Given the description of an element on the screen output the (x, y) to click on. 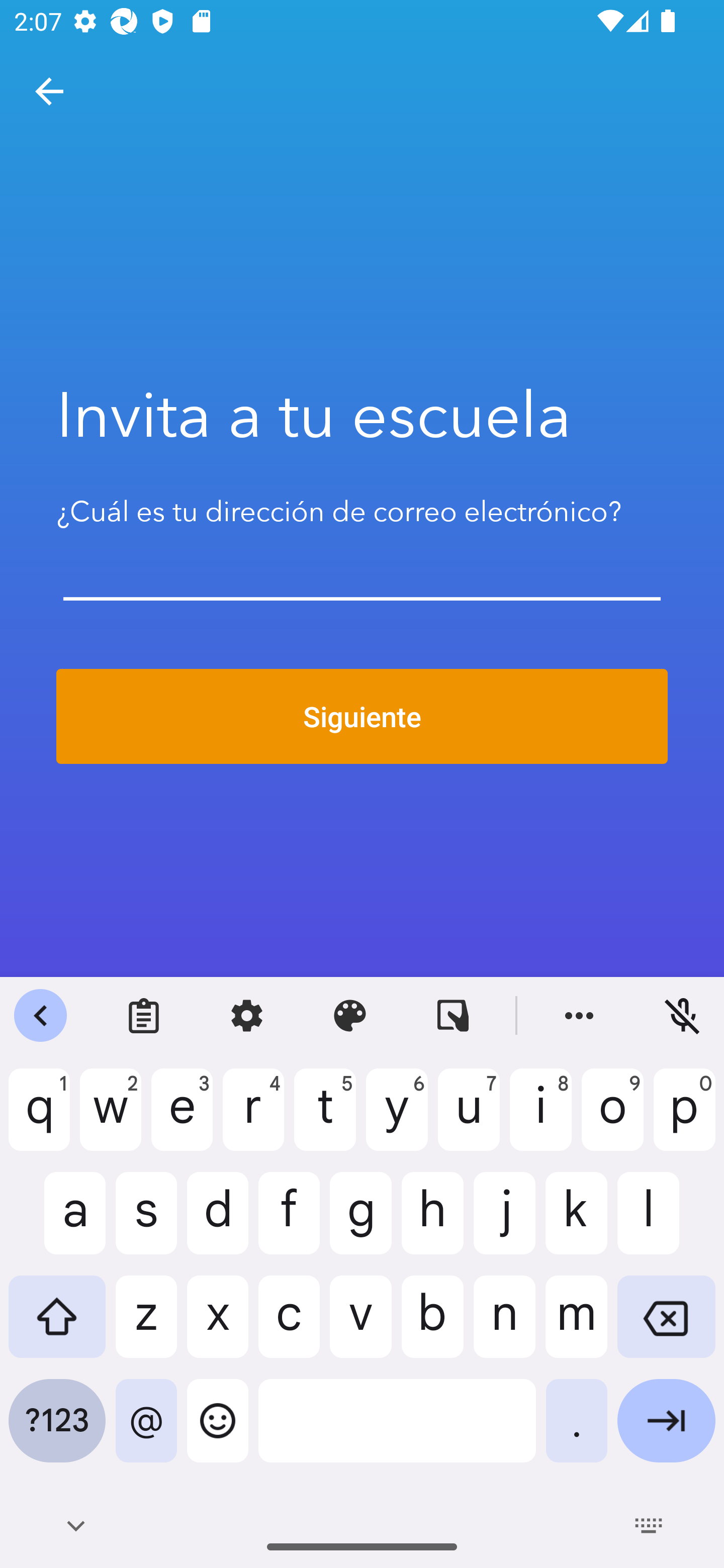
Navegar hacia arriba (49, 91)
Siguiente (361, 716)
